Given the description of an element on the screen output the (x, y) to click on. 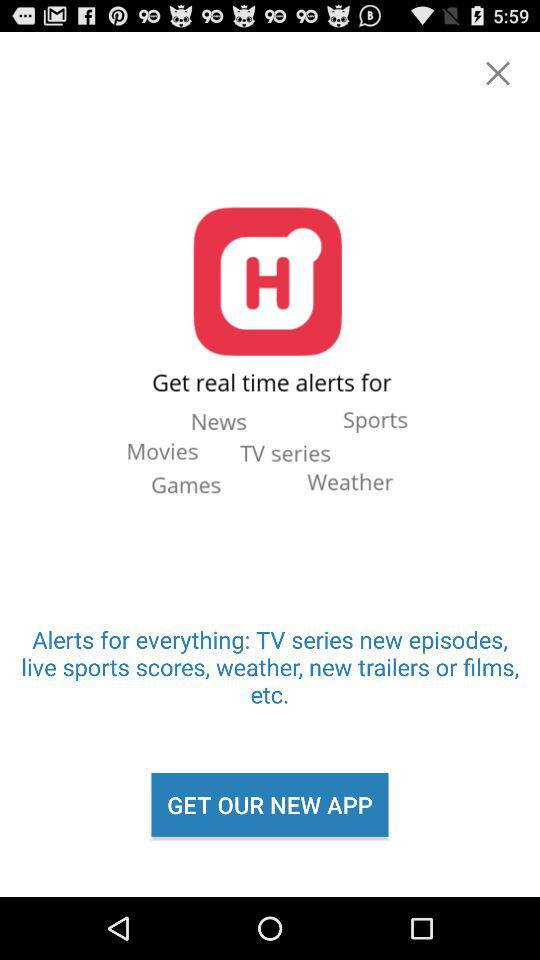
swipe until the get our new item (269, 804)
